Given the description of an element on the screen output the (x, y) to click on. 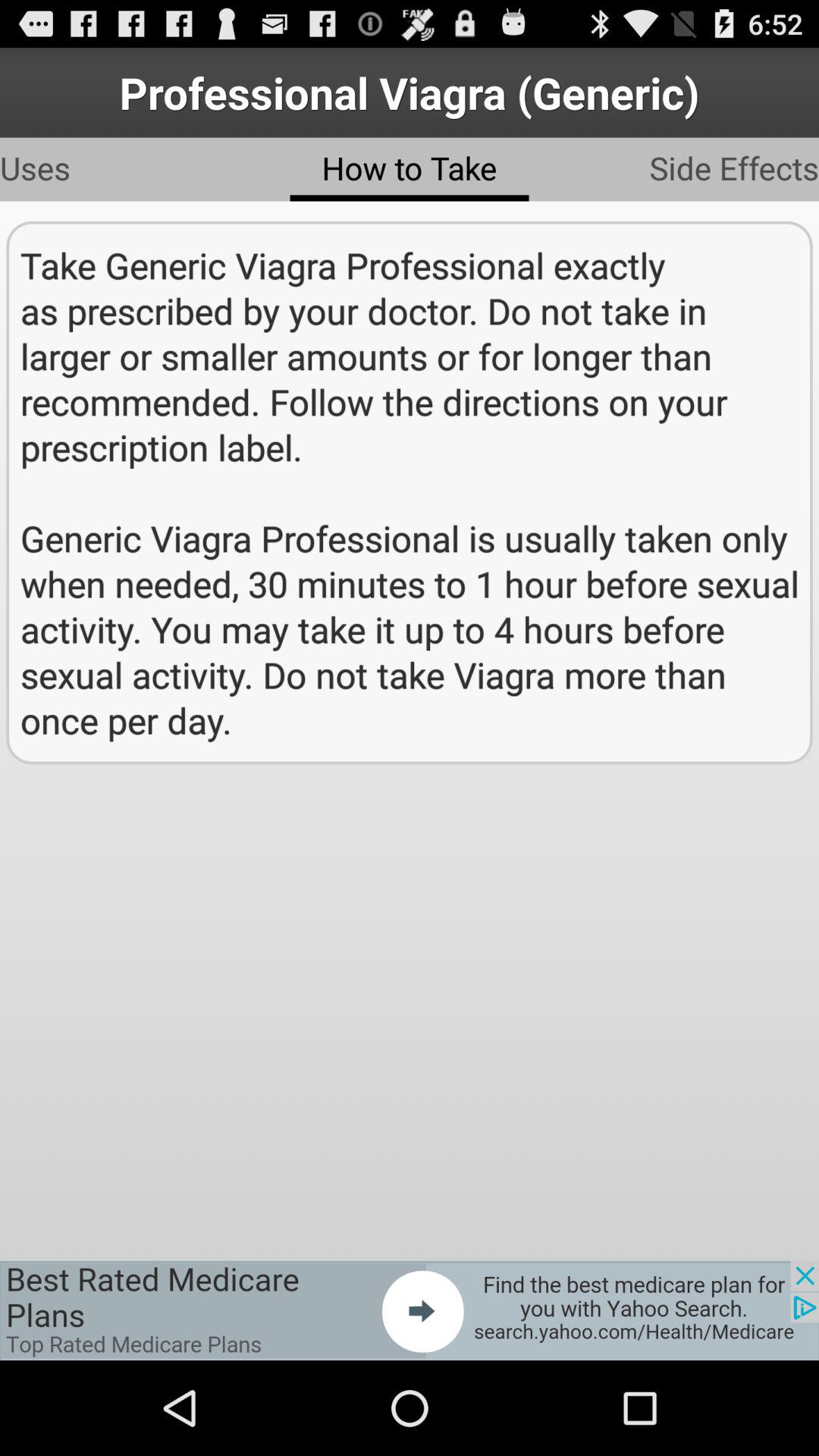
view advertisements (409, 1310)
